Given the description of an element on the screen output the (x, y) to click on. 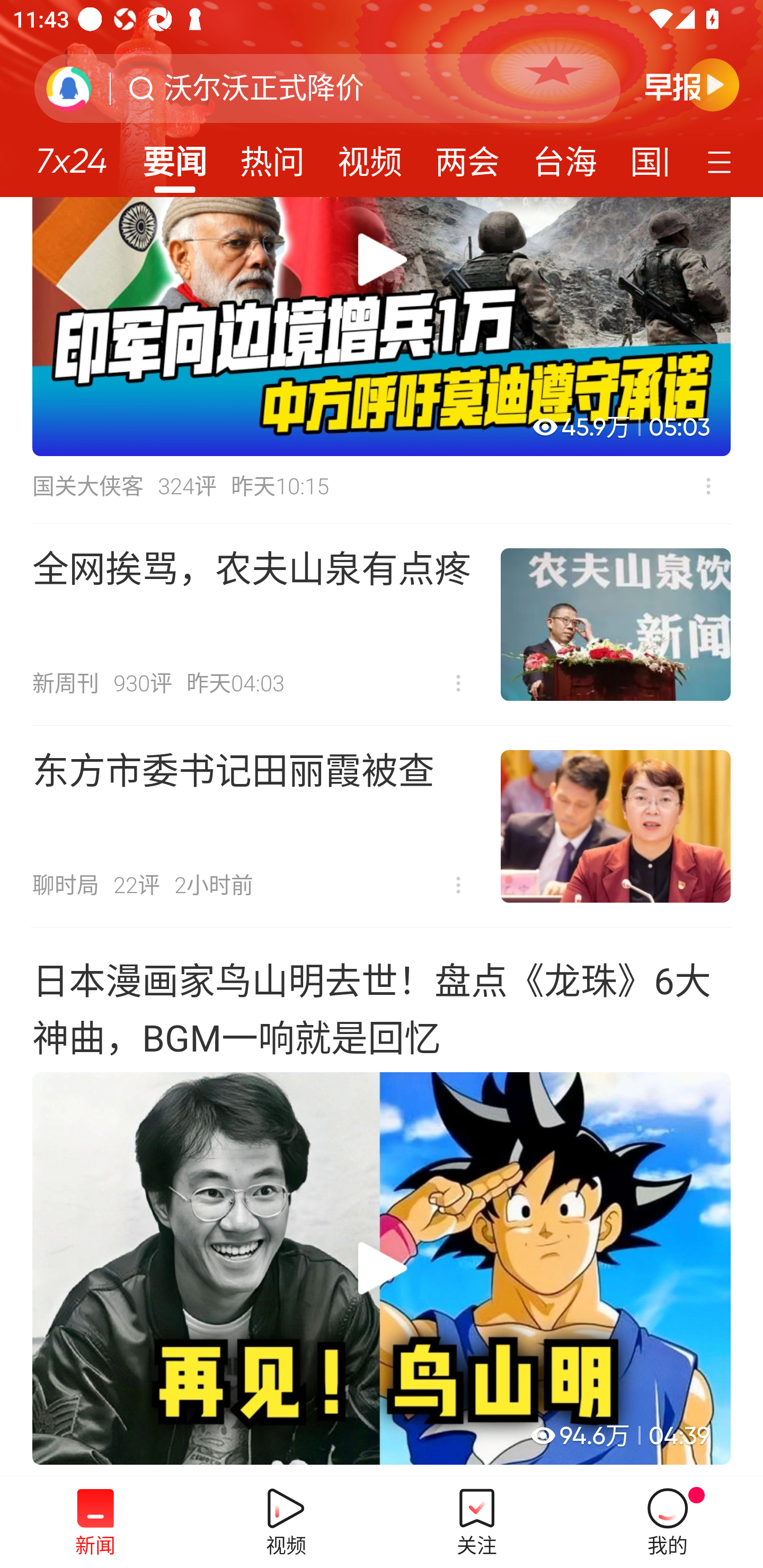
早晚报 (691, 84)
刷新 (68, 88)
沃尔沃正式降价 (263, 88)
7x24 (70, 154)
要闻 (174, 155)
热问 (272, 155)
视频 (369, 155)
两会 (466, 155)
台海 (564, 155)
 定制频道 (721, 160)
 45.9万 05:03 国关大侠客 324评 昨天10:15  不感兴趣 (381, 360)
 不感兴趣 (707, 486)
全网挨骂，农夫山泉有点疼 新周刊 930评 昨天04:03  不感兴趣 (381, 623)
 不感兴趣 (458, 683)
东方市委书记田丽霞被查 聊时局 22评 2小时前  不感兴趣 (381, 825)
 不感兴趣 (458, 884)
